Given the description of an element on the screen output the (x, y) to click on. 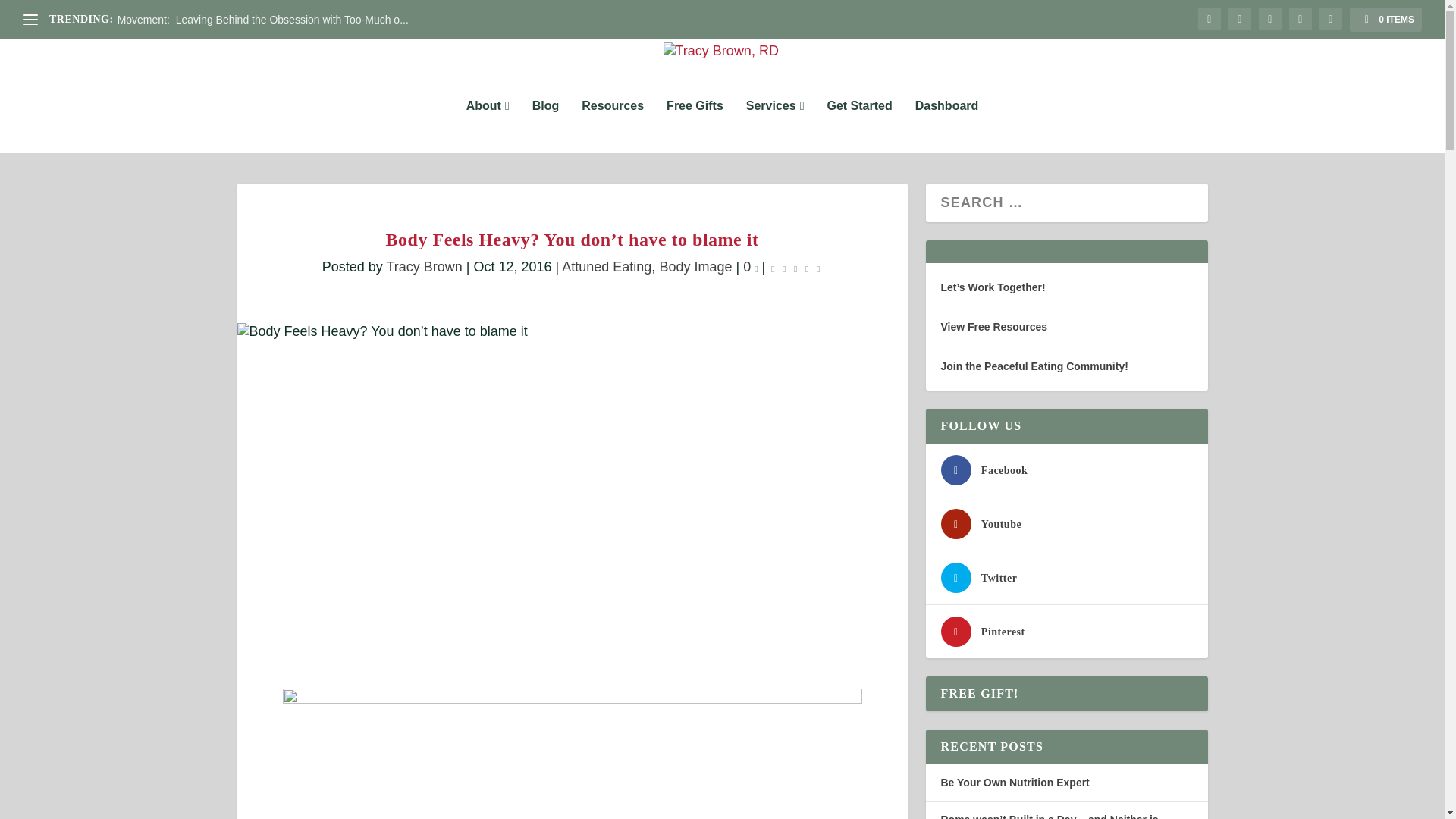
Dashboard (946, 126)
0 ITEMS (1385, 19)
Tracy Brown (423, 266)
Movement:  Leaving Behind the Obsession with Too-Much o... (263, 19)
Get Started (859, 126)
Attuned Eating (606, 266)
Services (775, 126)
Body Image (695, 266)
Posts by Tracy Brown (423, 266)
Rating: 0.00 (795, 267)
0 Items in Cart (1385, 19)
Free Gifts (694, 126)
Resources (611, 126)
